Given the description of an element on the screen output the (x, y) to click on. 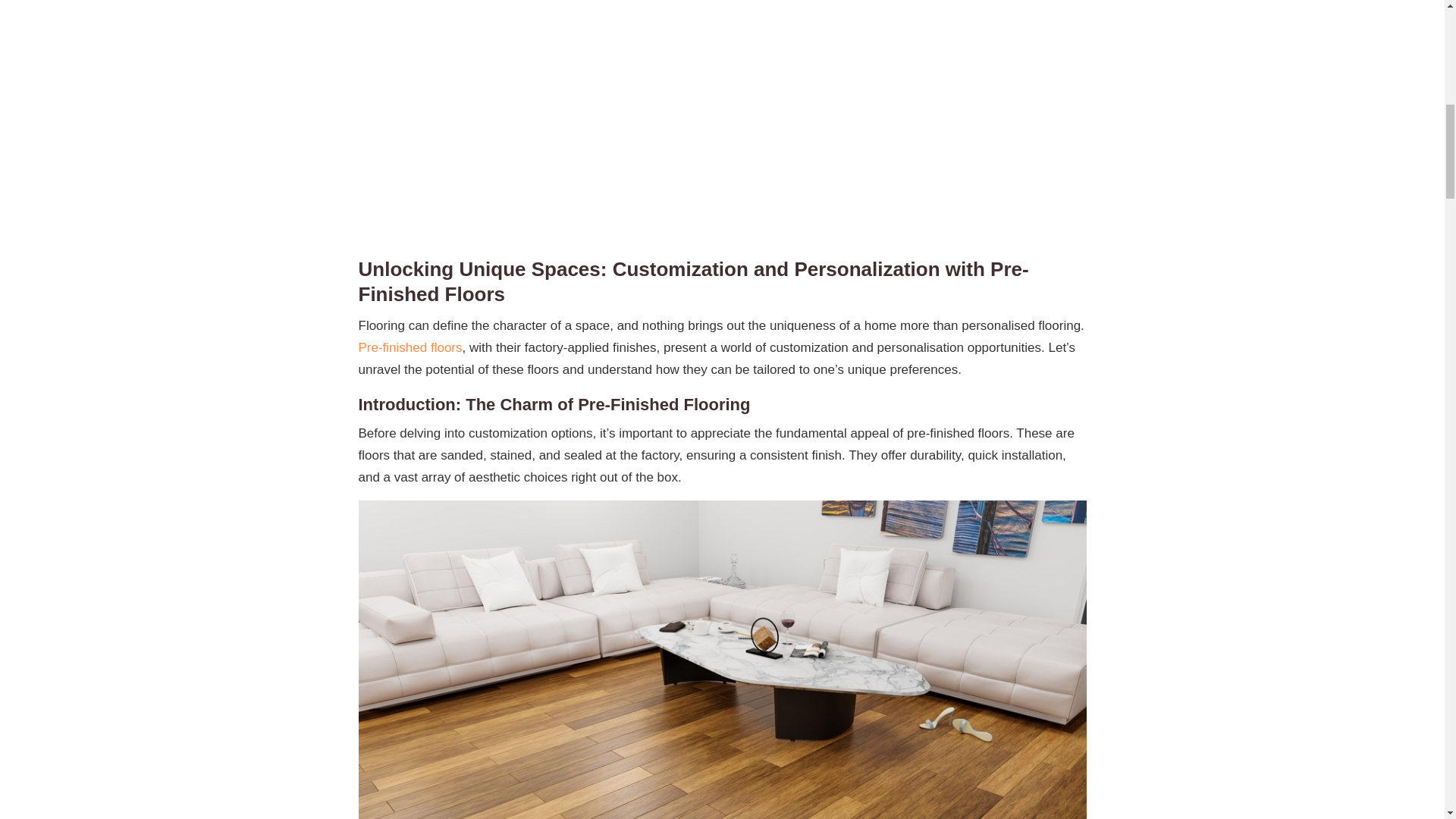
estate-planning-10 (949, 25)
